Given the description of an element on the screen output the (x, y) to click on. 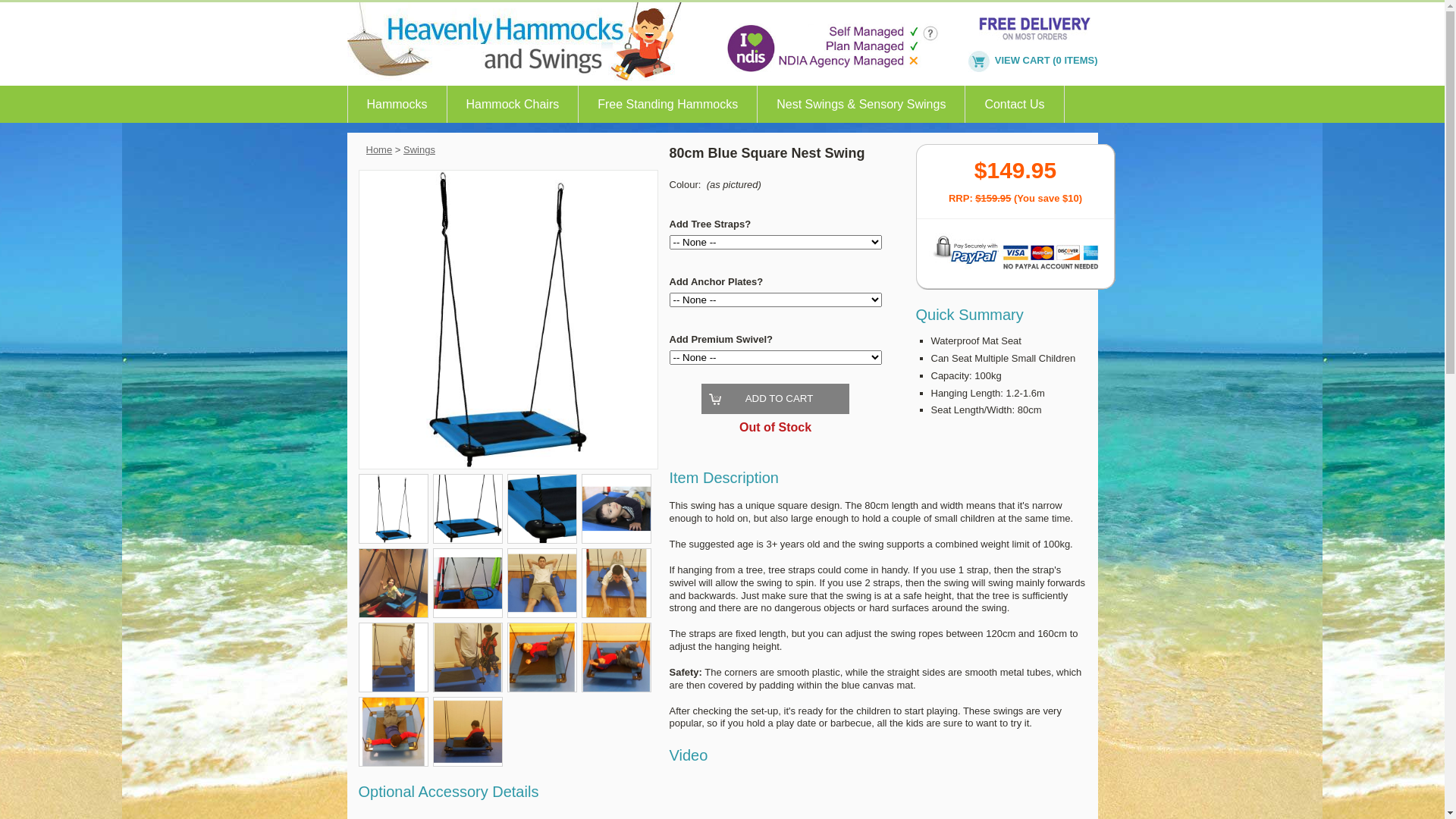
Free Standing Hammocks Element type: text (666, 103)
Swings Element type: text (419, 149)
VIEW CART (0 ITEMS) Element type: text (1033, 60)
Nest Swings & Sensory Swings Element type: text (860, 103)
Add to Cart Element type: text (775, 398)
Contact Us Element type: text (1013, 103)
Hammock Chairs Element type: text (512, 103)
Home Element type: text (378, 149)
Hammocks Element type: text (396, 103)
